Given the description of an element on the screen output the (x, y) to click on. 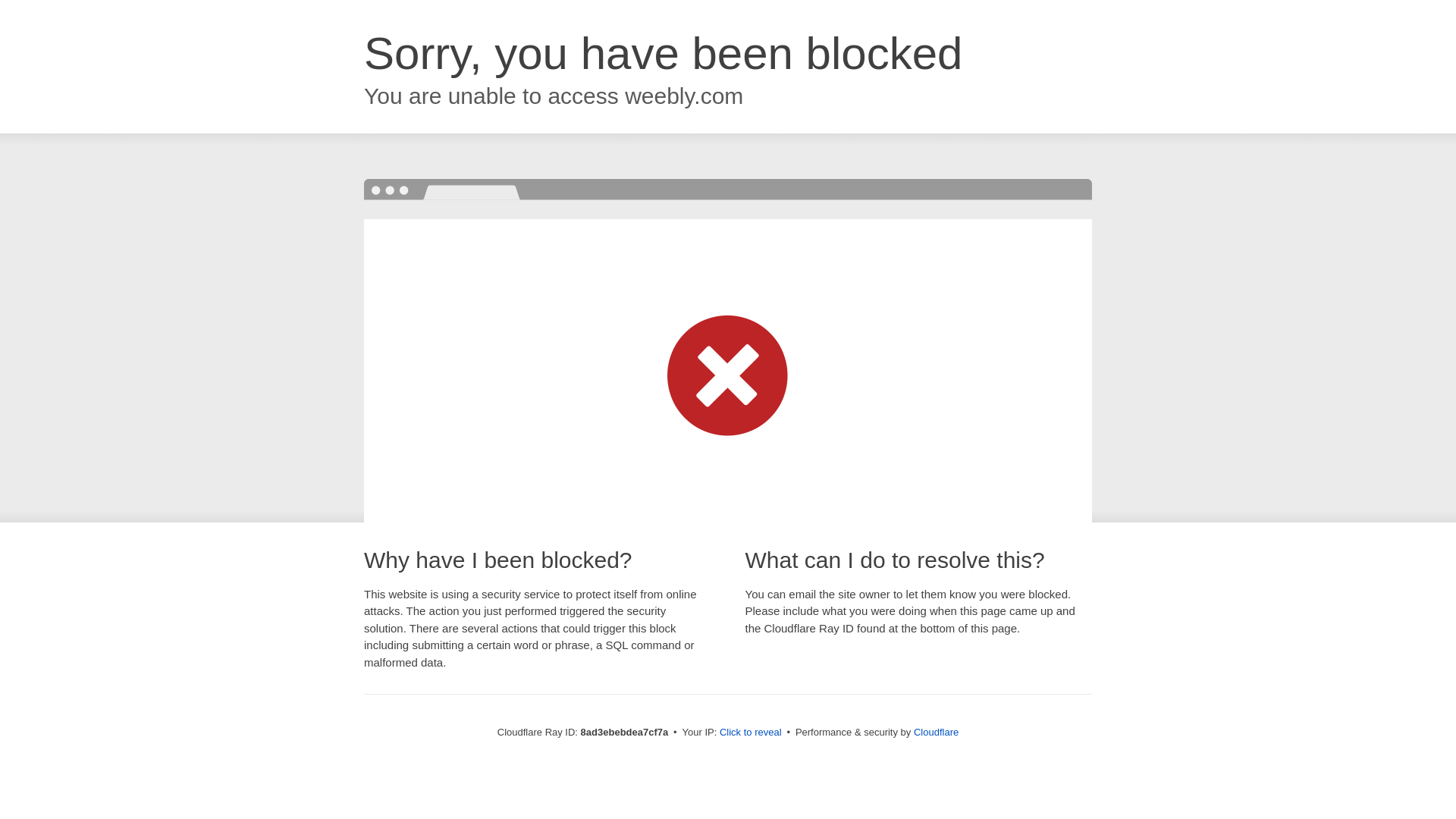
Click to reveal (750, 732)
Cloudflare (936, 731)
